Given the description of an element on the screen output the (x, y) to click on. 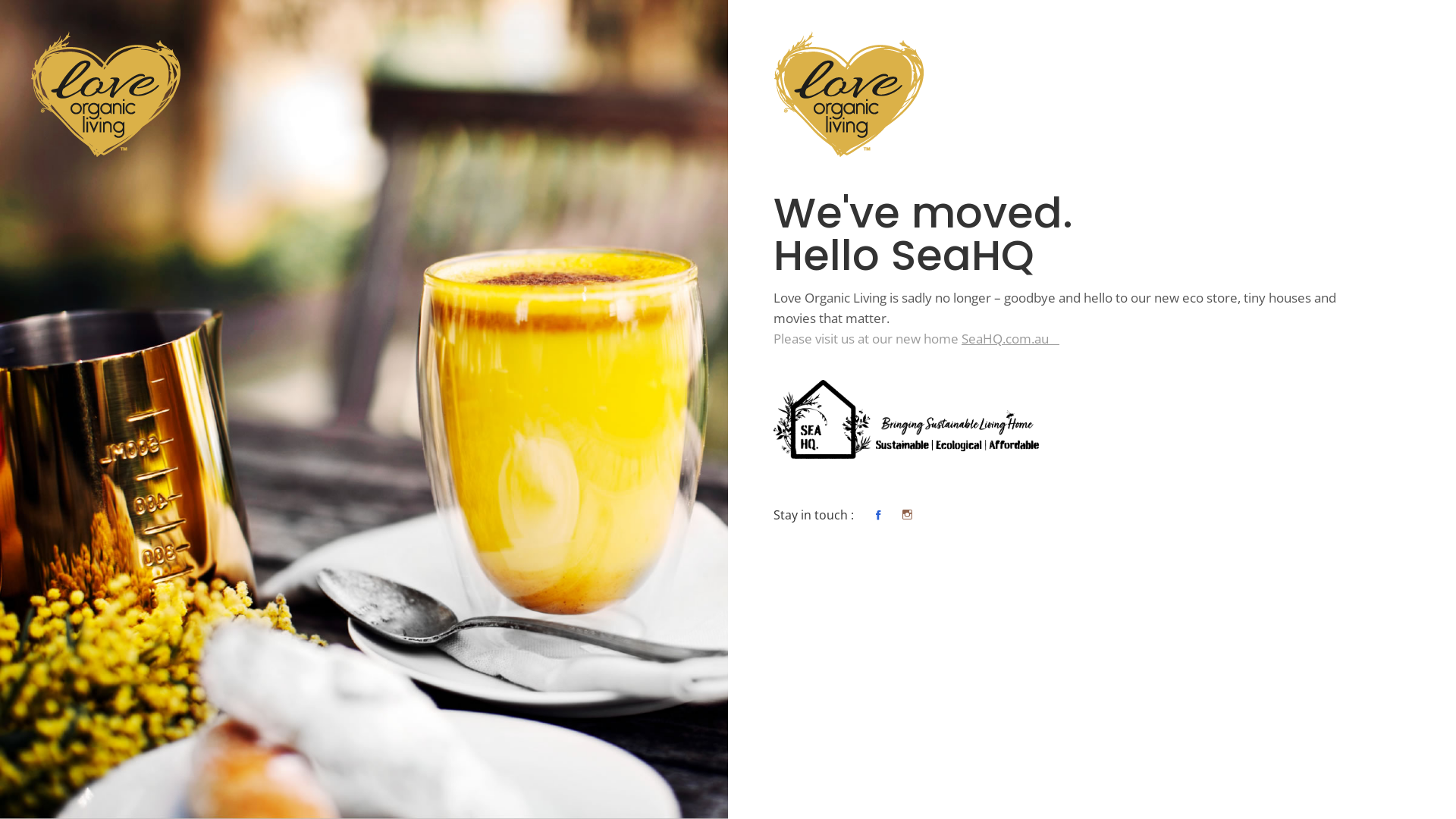
Moves That Matter Gold Coast Facebook Element type: hover (877, 515)
SeaHQ Instagram Element type: hover (907, 515)
